Given the description of an element on the screen output the (x, y) to click on. 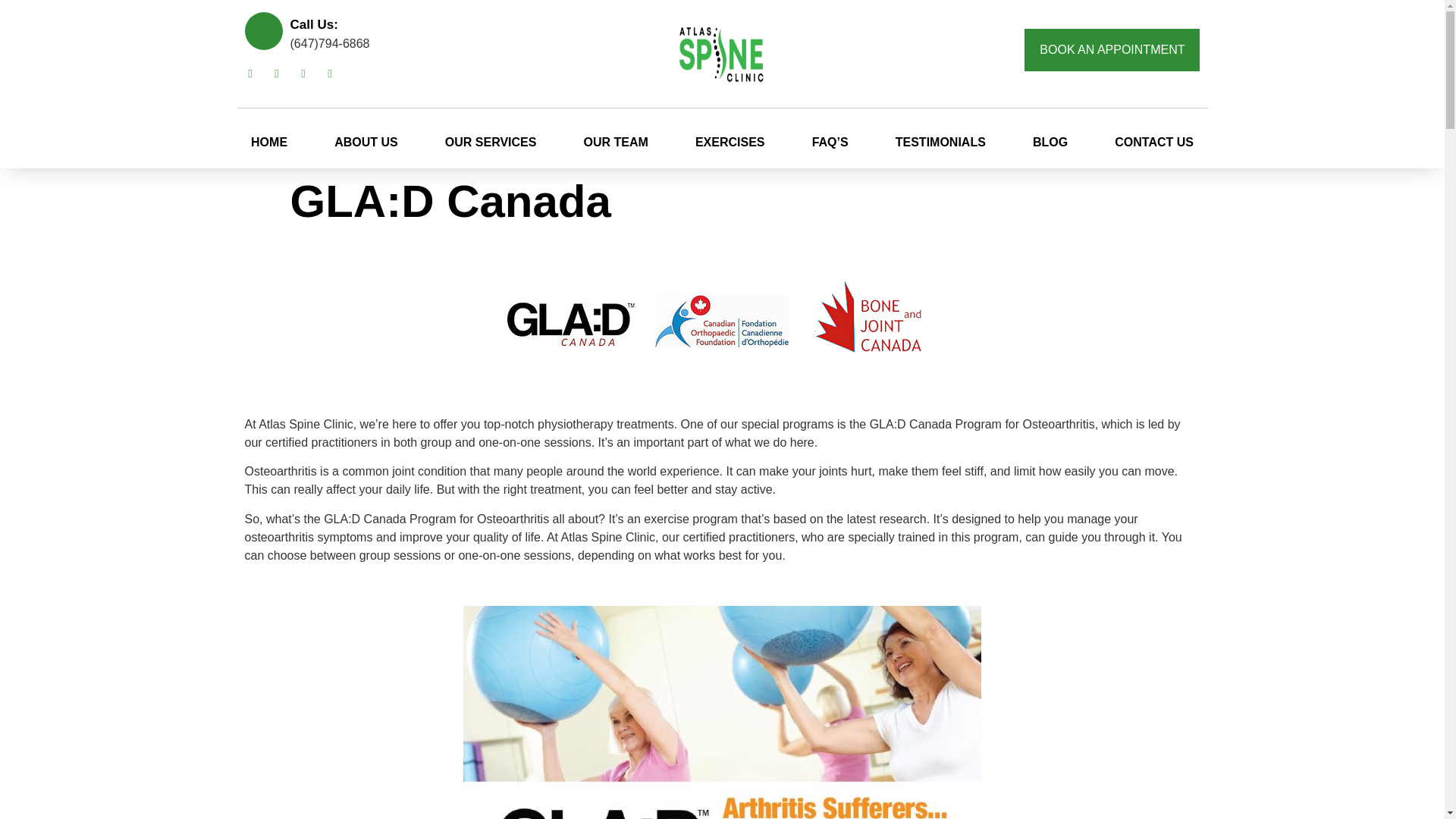
ABOUT US (366, 142)
HOME (268, 142)
Call Us: (313, 23)
BOOK AN APPOINTMENT (1112, 49)
CONTACT US (1154, 142)
OUR TEAM (615, 142)
OUR SERVICES (490, 142)
Transparent BG (721, 49)
BLOG (1049, 142)
TESTIMONIALS (939, 142)
